Given the description of an element on the screen output the (x, y) to click on. 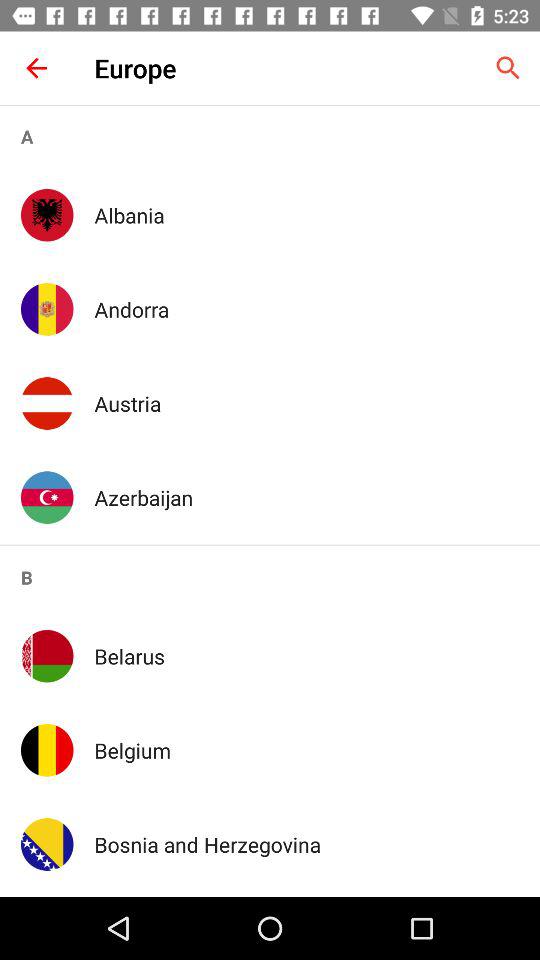
choose the item below the belgium app (306, 844)
